Given the description of an element on the screen output the (x, y) to click on. 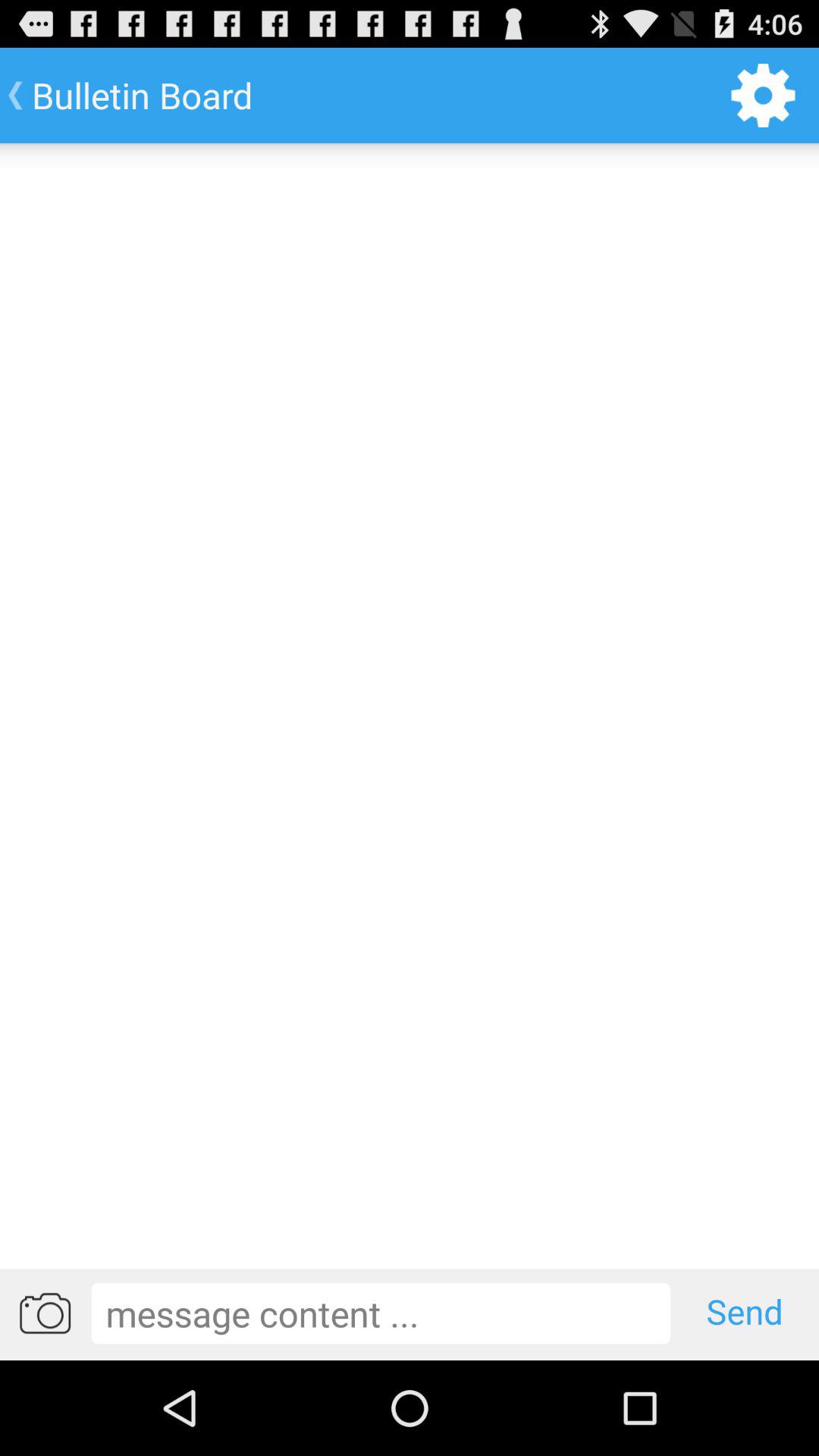
turn on the item at the top right corner (763, 95)
